Given the description of an element on the screen output the (x, y) to click on. 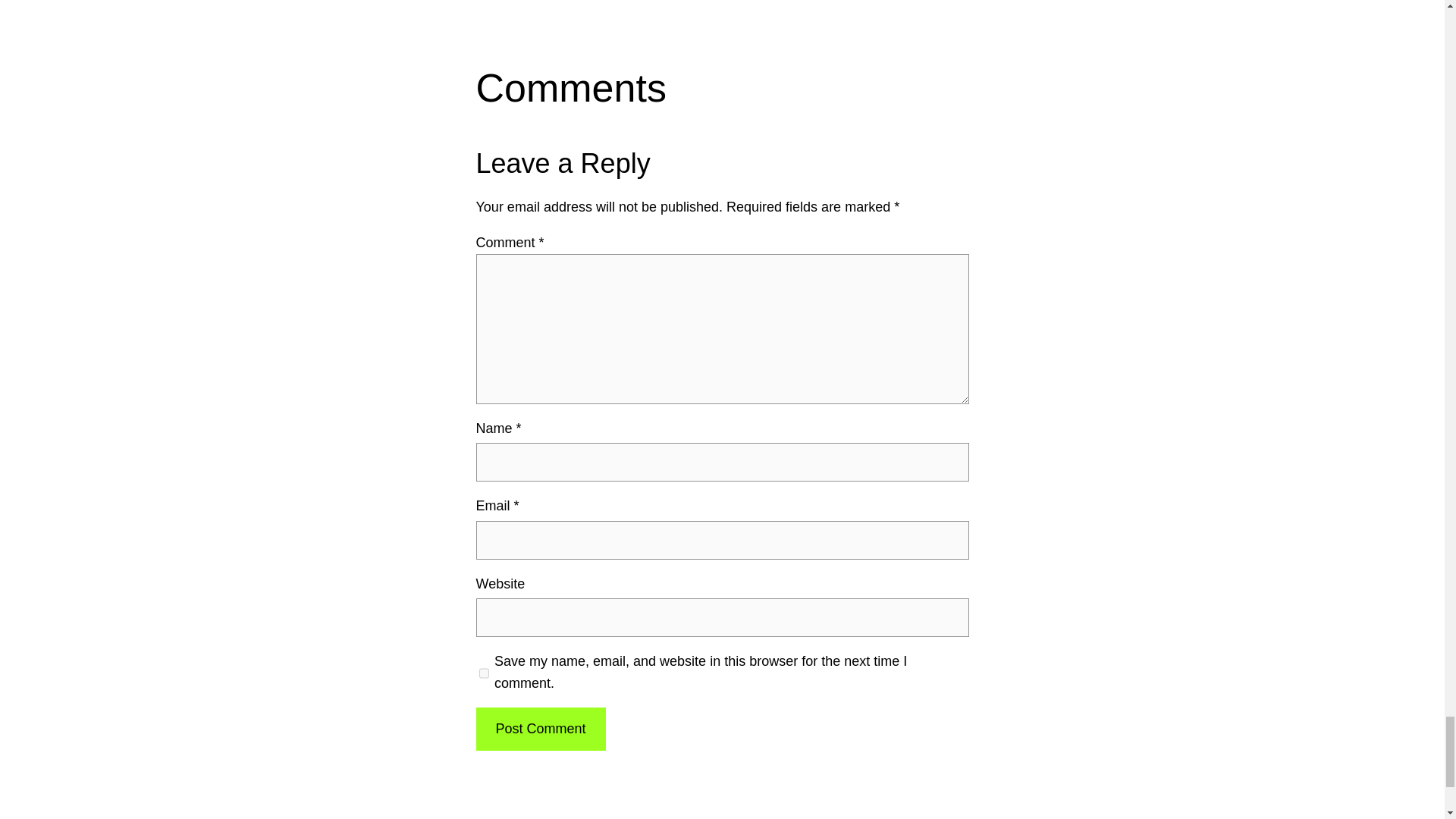
yes (484, 673)
Post Comment (540, 729)
Post Comment (540, 729)
